Given the description of an element on the screen output the (x, y) to click on. 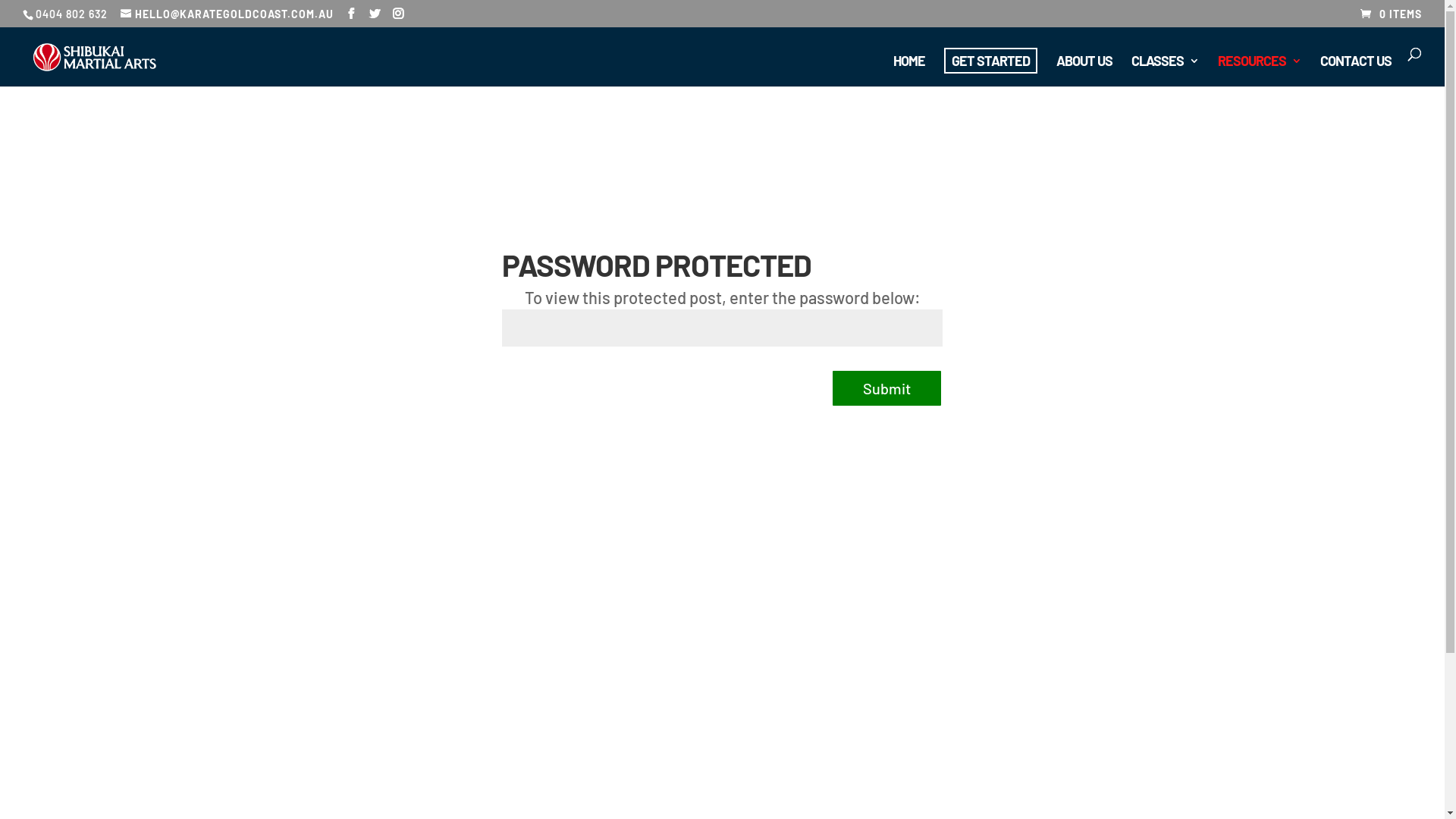
GET STARTED Element type: text (990, 60)
Submit Element type: text (886, 388)
CONTACT US Element type: text (1355, 70)
RESOURCES Element type: text (1259, 70)
HELLO@KARATEGOLDCOAST.COM.AU Element type: text (226, 13)
CLASSES Element type: text (1164, 70)
ABOUT US Element type: text (1084, 70)
0 ITEMS Element type: text (1390, 13)
HOME Element type: text (909, 70)
